Given the description of an element on the screen output the (x, y) to click on. 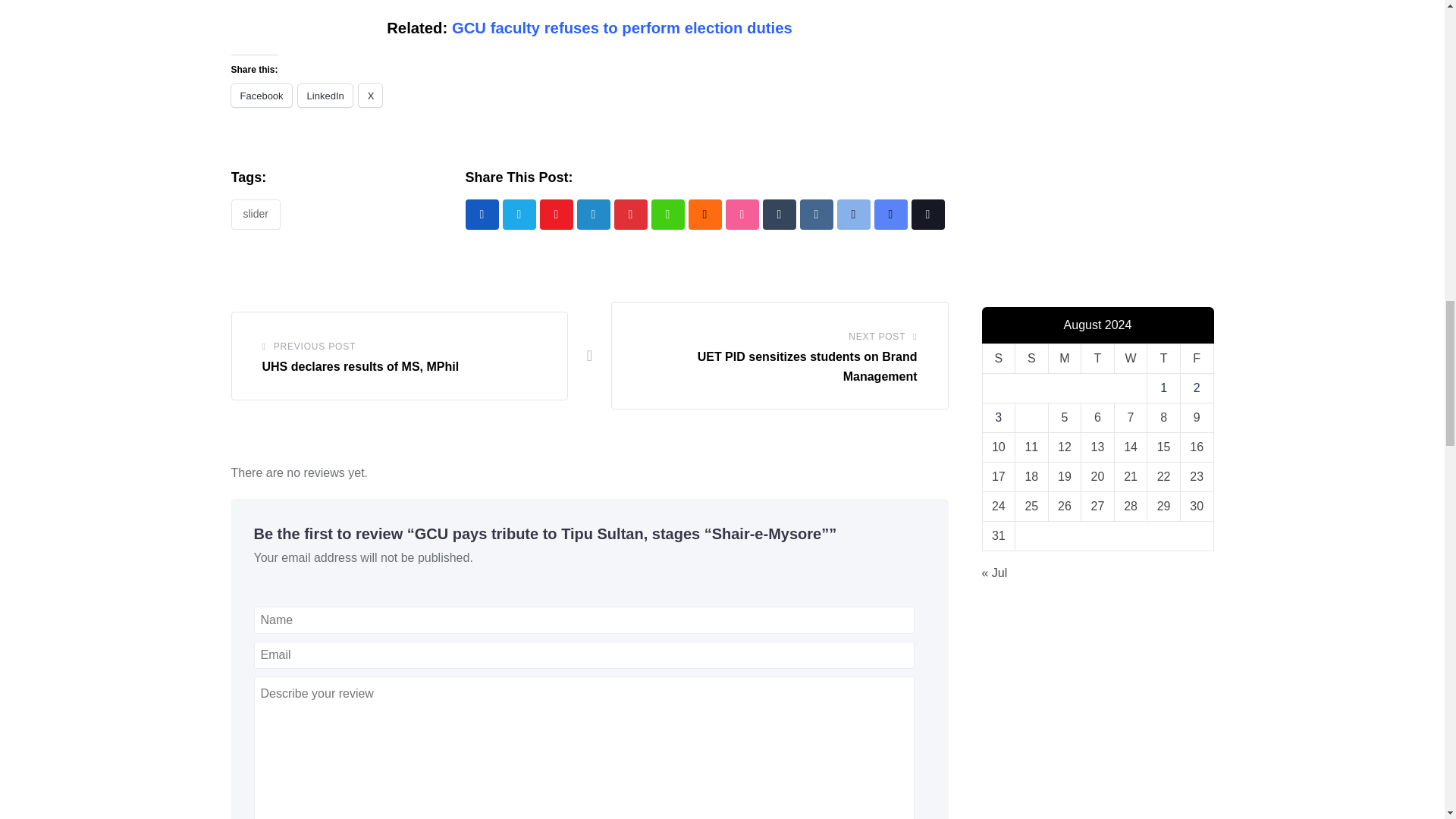
Click to share on Facebook (260, 95)
Click to share on LinkedIn (325, 95)
Click to share on X (370, 95)
